Given the description of an element on the screen output the (x, y) to click on. 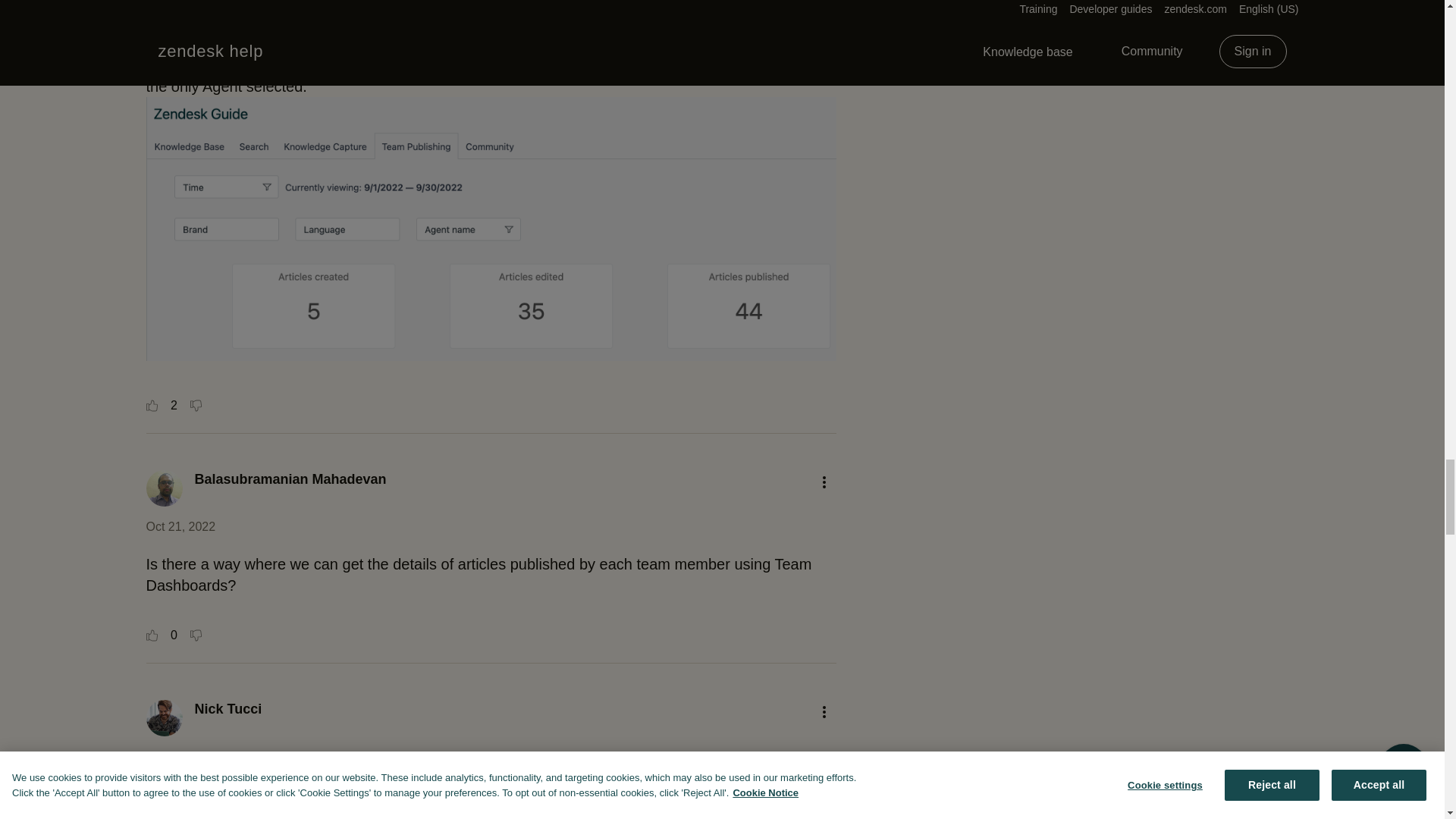
Oct 21, 2022 (180, 526)
Nov 02, 2022 (180, 756)
